Given the description of an element on the screen output the (x, y) to click on. 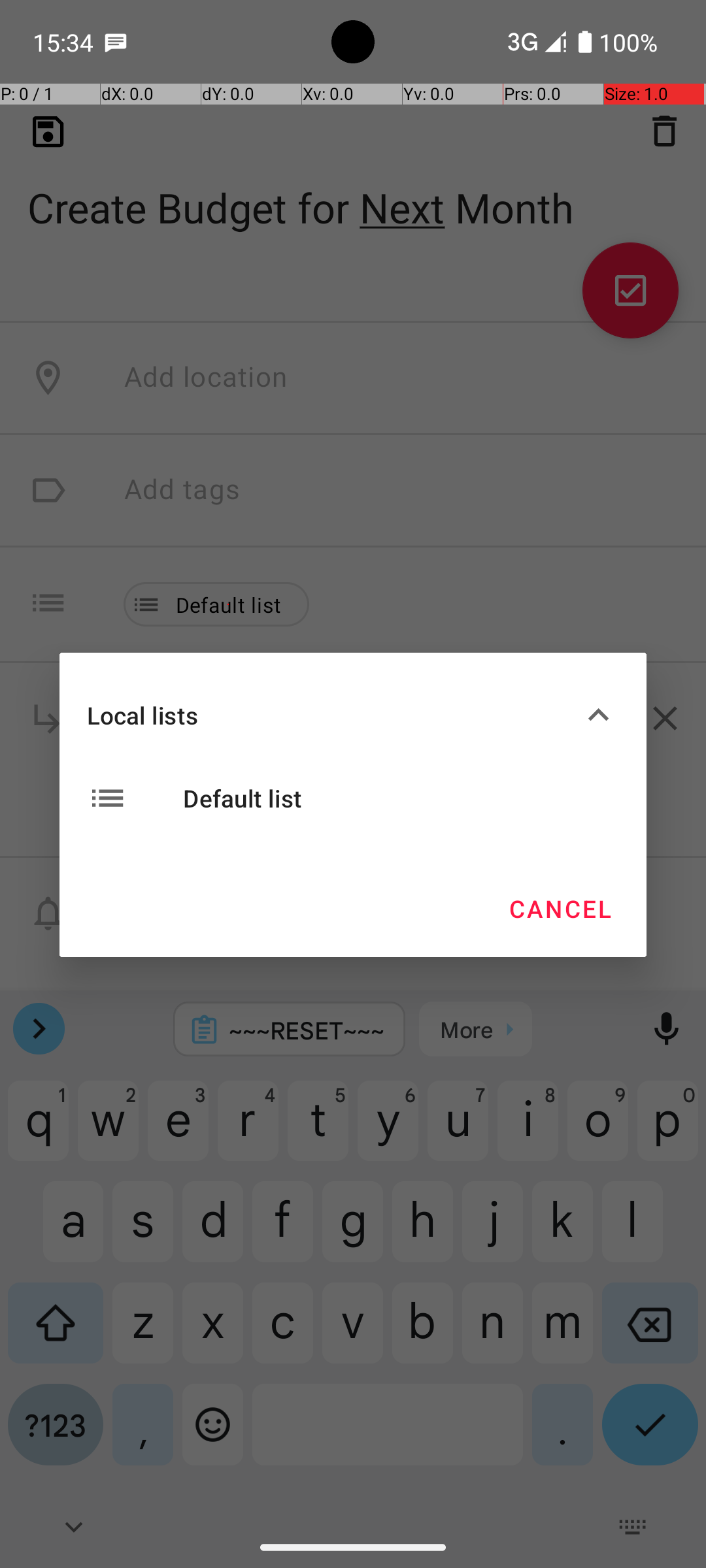
Local lists Element type: android.widget.TextView (331, 715)
